Given the description of an element on the screen output the (x, y) to click on. 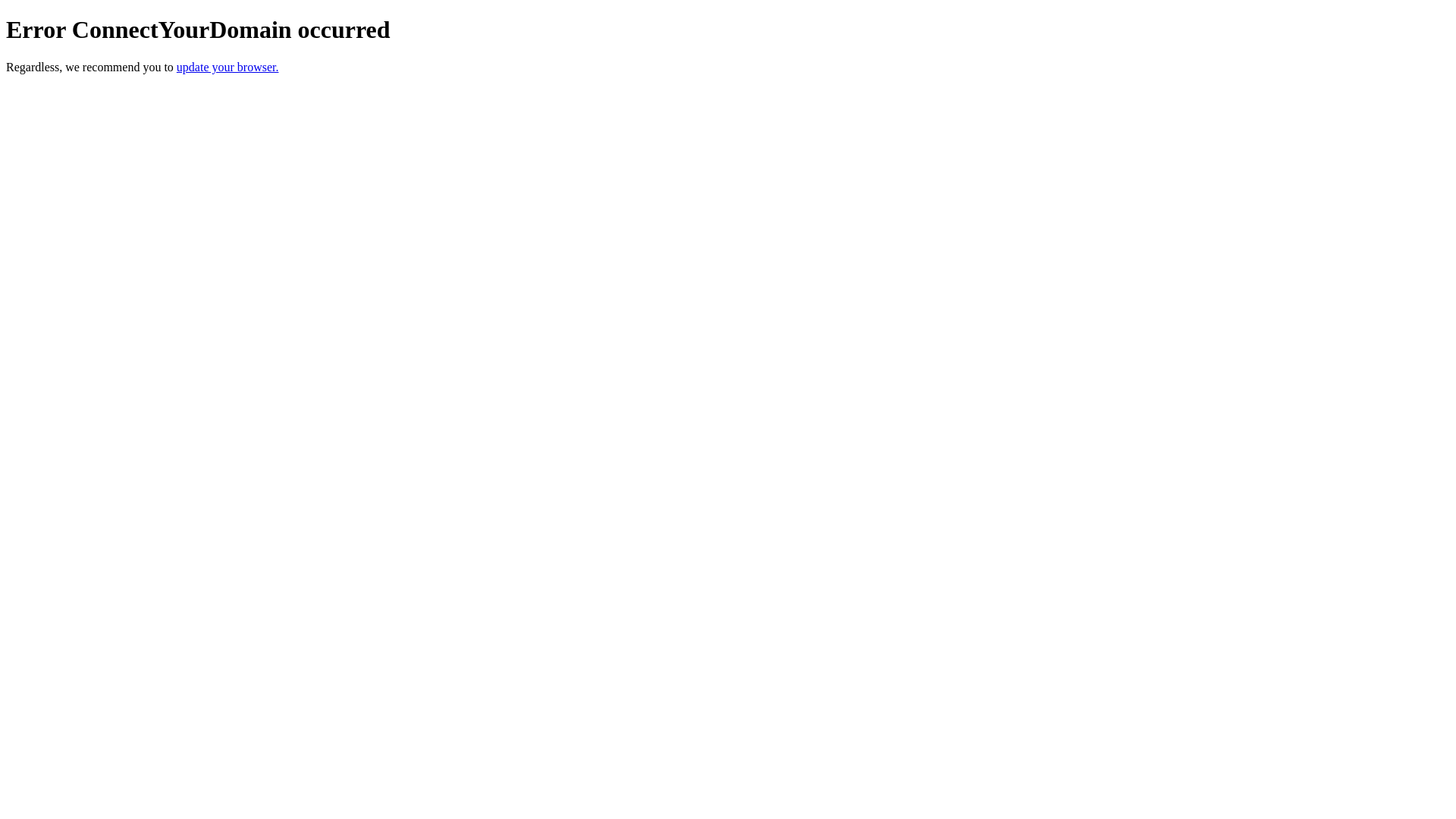
update your browser. Element type: text (227, 66)
